Given the description of an element on the screen output the (x, y) to click on. 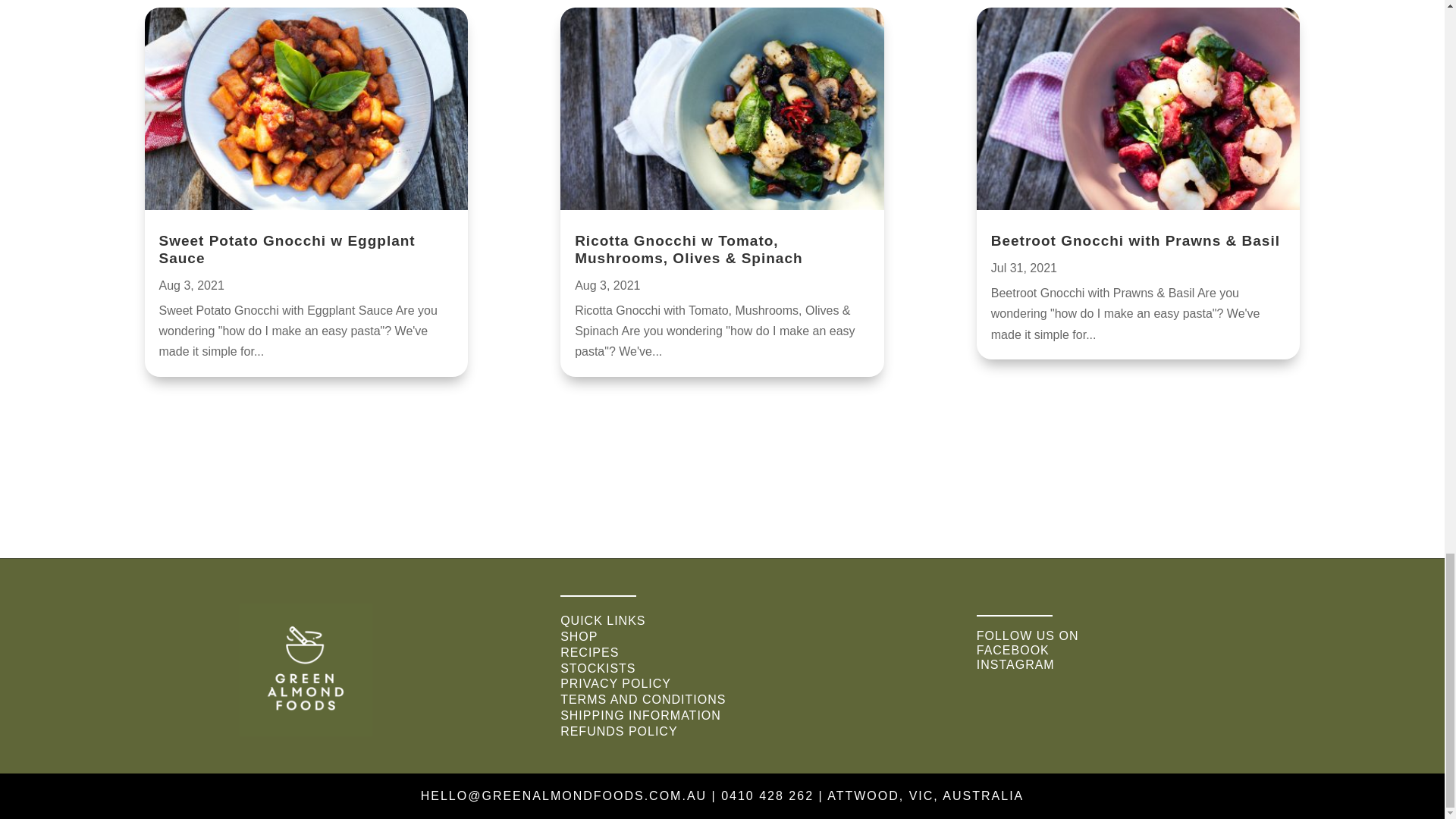
REFUNDS POLICY (618, 730)
RECIPES (589, 652)
SHIPPING INFORMATION (640, 715)
FACEBOOK (1012, 649)
SHOP (578, 635)
INSTAGRAM (1015, 664)
Sweet Potato Gnocchi w Eggplant Sauce (286, 249)
TERMS AND CONDITIONS (642, 698)
PRIVACY POLICY (615, 683)
STOCKISTS (597, 667)
